Given the description of an element on the screen output the (x, y) to click on. 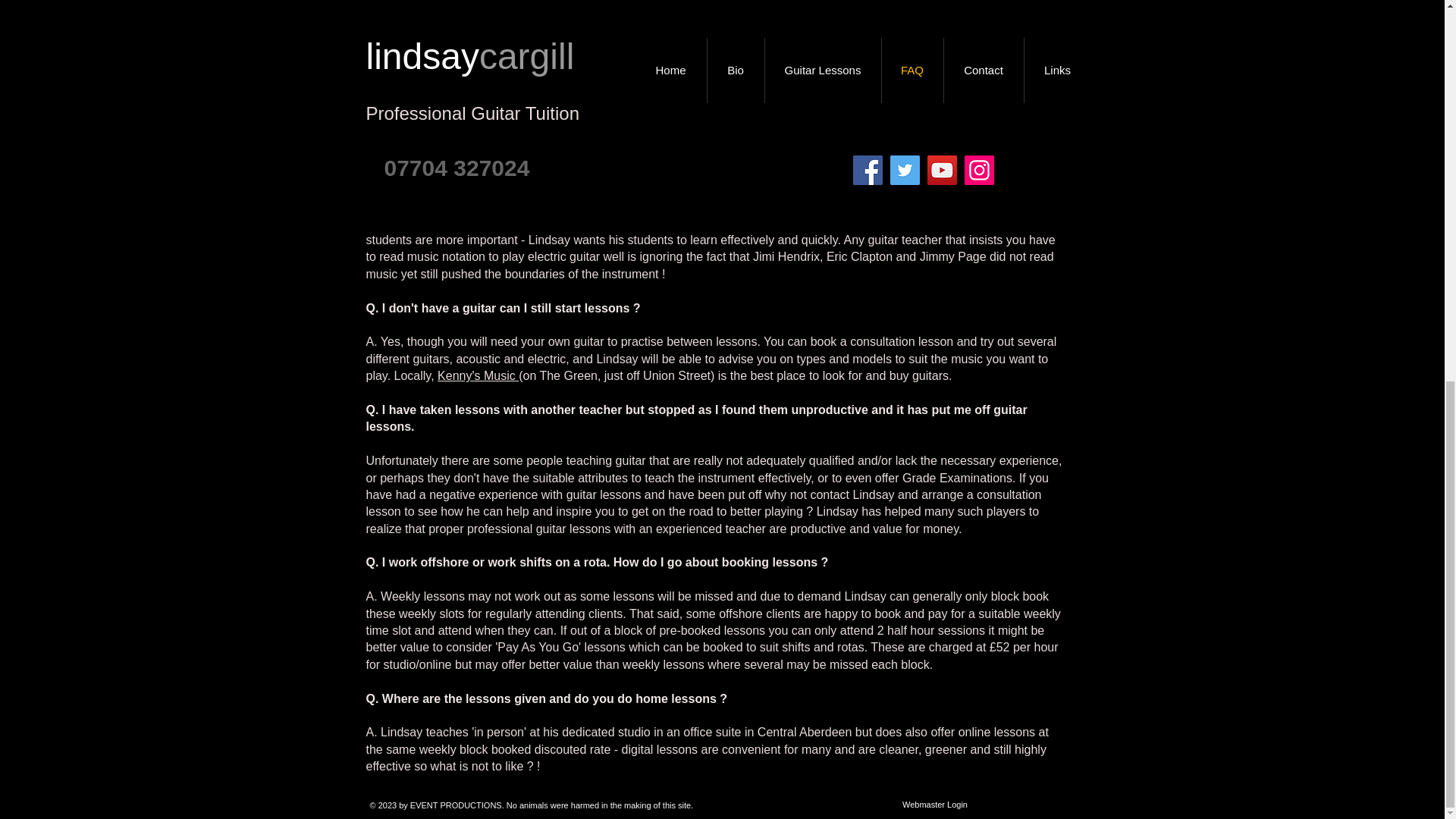
Webmaster Login (933, 805)
Kenny's Music  (478, 375)
